Given the description of an element on the screen output the (x, y) to click on. 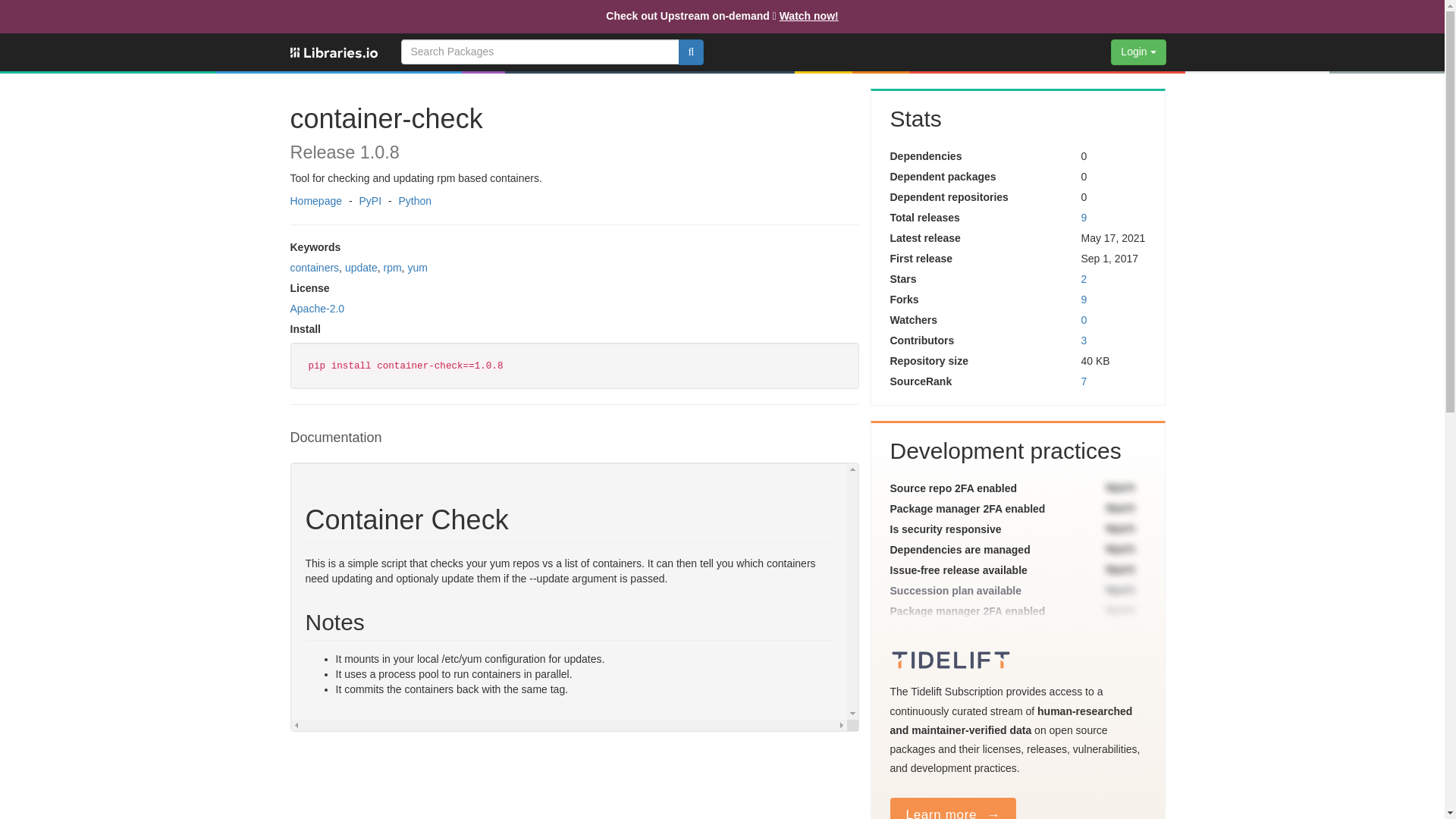
Watch now! (808, 15)
Login (1138, 52)
Python (413, 200)
Homepage (315, 200)
Sep  1, 2017 (1109, 258)
yum (416, 267)
May 17, 2021 (1112, 237)
PyPI (369, 200)
containers (314, 267)
update (361, 267)
Apache-2.0 (316, 308)
rpm (391, 267)
